Given the description of an element on the screen output the (x, y) to click on. 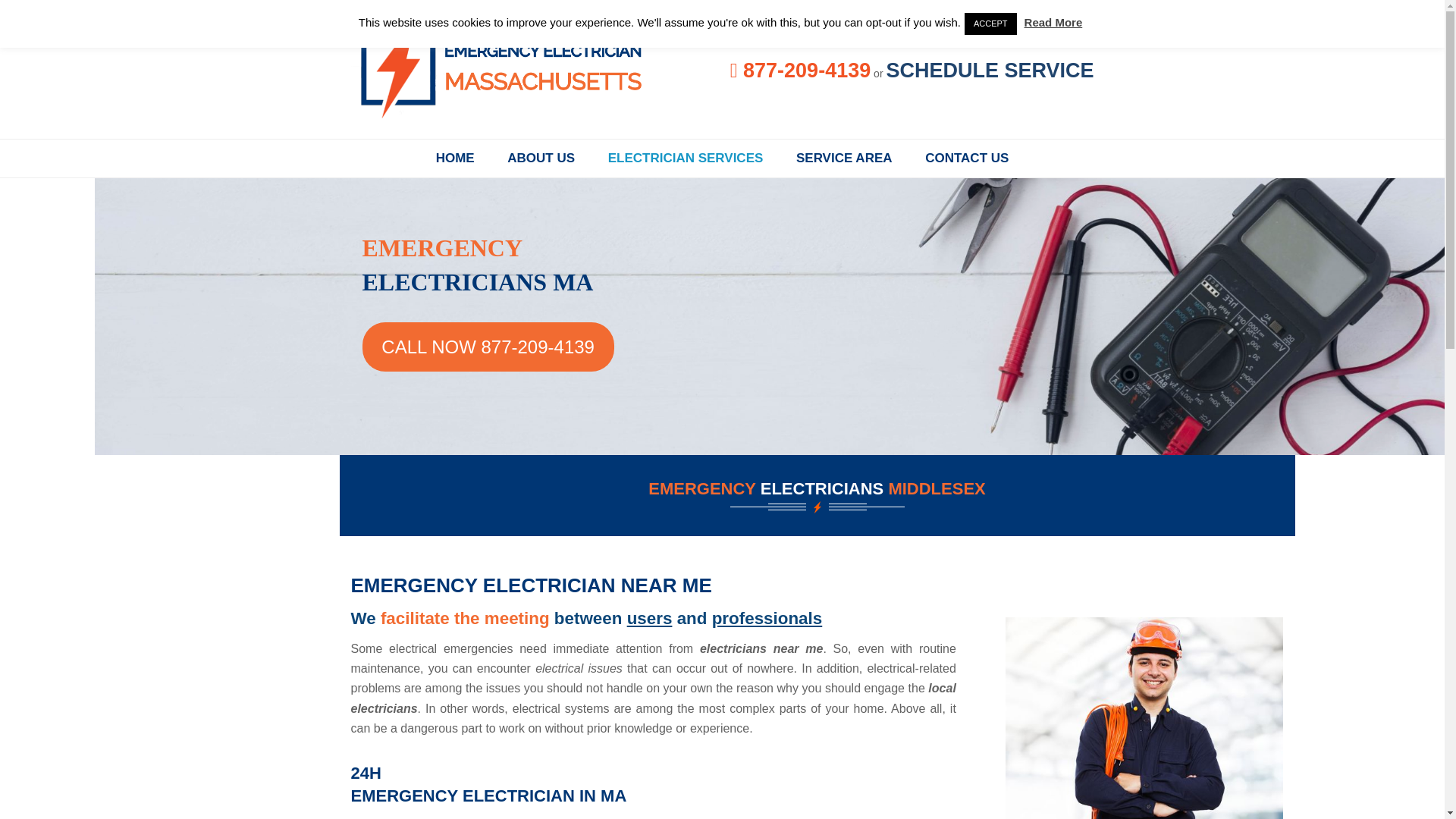
ELECTRICIAN SERVICES (685, 158)
CONTACT US (966, 158)
SCHEDULE SERVICE (989, 69)
ELECTRICAL REPAIRS (540, 158)
ABOUT US (540, 158)
HOME (454, 158)
877-209-4139 (800, 73)
ELECTRICIAN SERVICES (685, 158)
SERVICE AREA (843, 158)
Electrician Middlesex MA (454, 158)
